Given the description of an element on the screen output the (x, y) to click on. 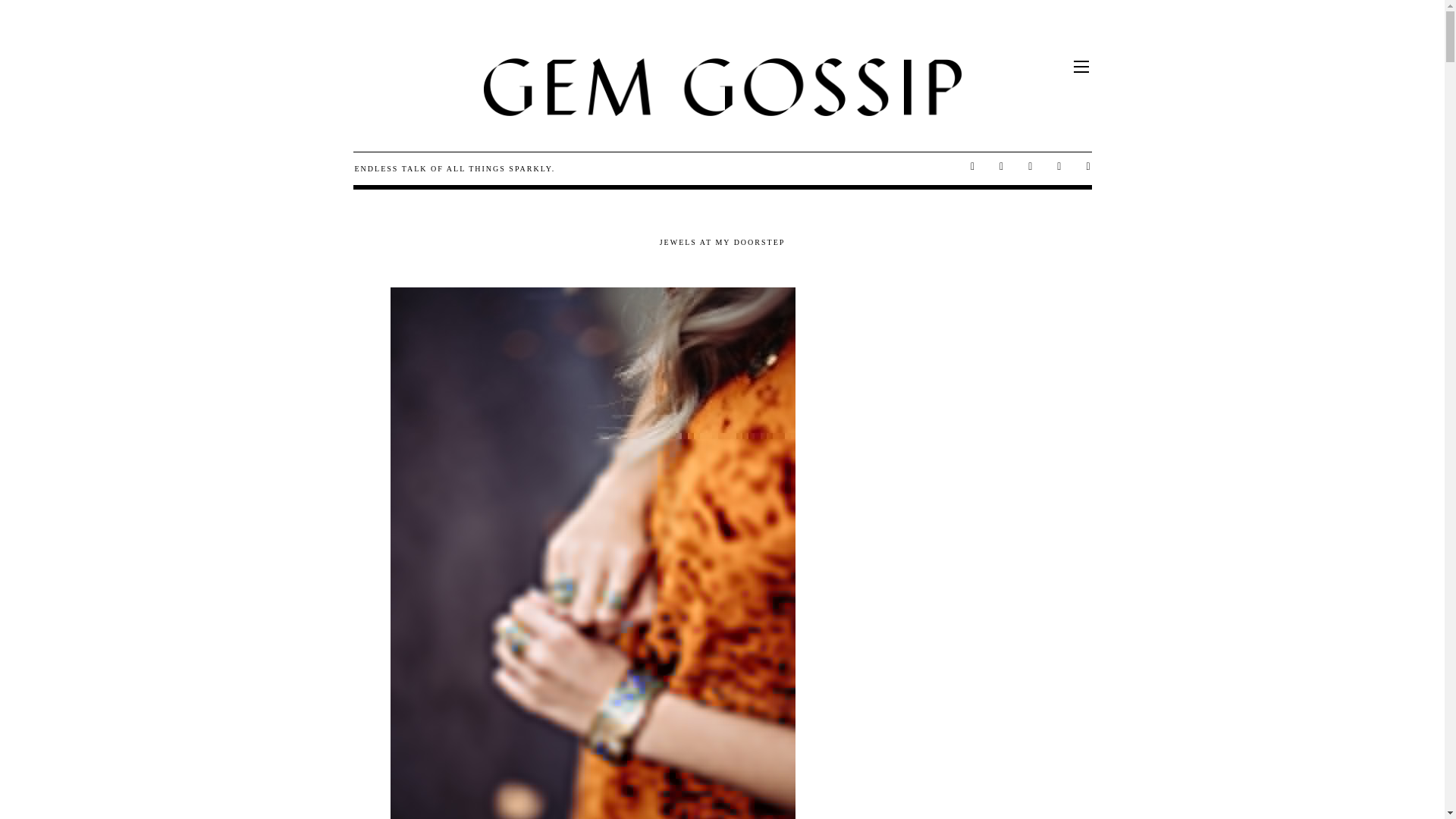
JEWELS AT MY DOORSTEP (722, 242)
